Given the description of an element on the screen output the (x, y) to click on. 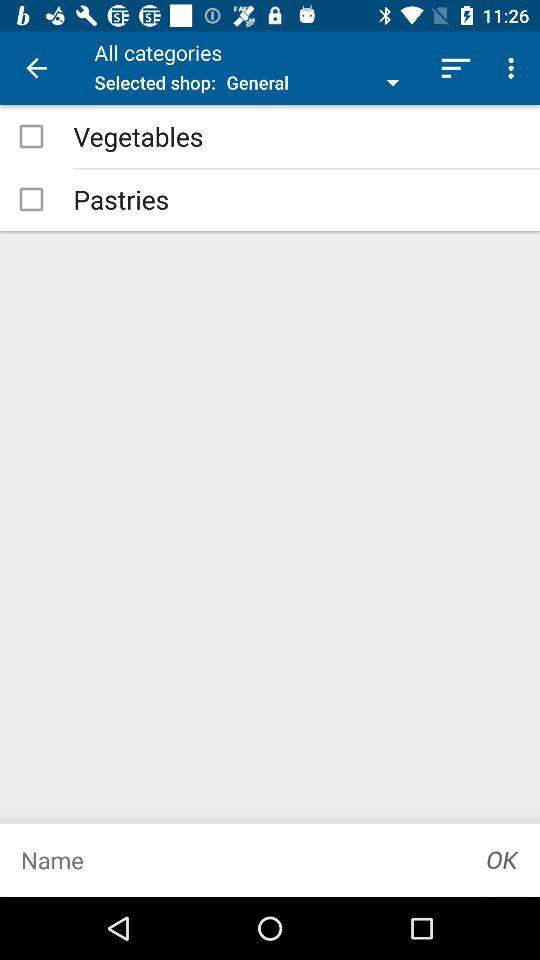
confirm (503, 860)
